Given the description of an element on the screen output the (x, y) to click on. 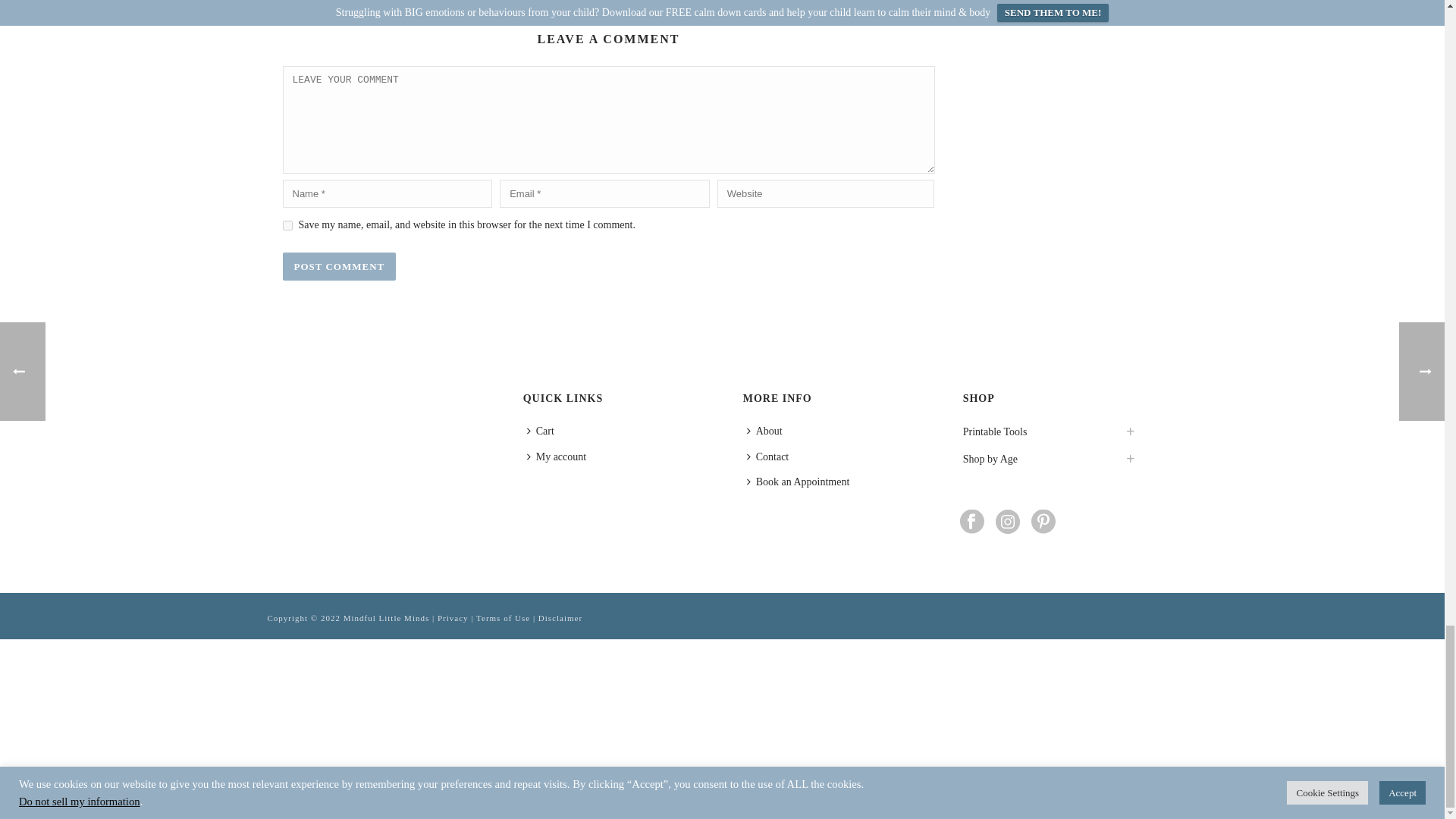
yes (287, 225)
Follow Us on instagram (1007, 522)
POST COMMENT (339, 266)
Follow Us on facebook (971, 522)
Follow Us on pinterest (1042, 522)
